Given the description of an element on the screen output the (x, y) to click on. 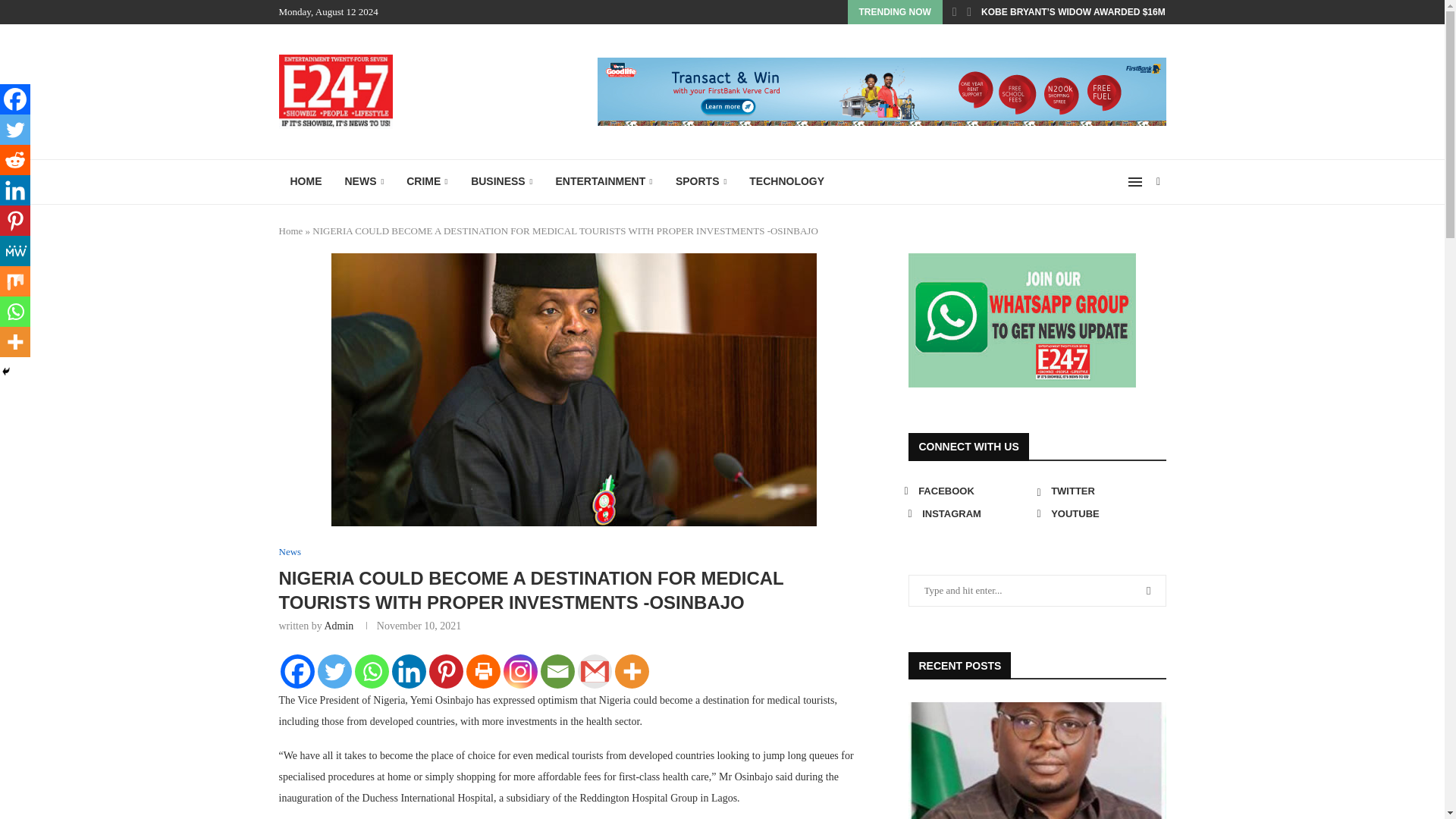
Facebook (297, 671)
SPORTS (700, 181)
Instagram (520, 671)
More (630, 671)
Home (290, 230)
Google Gmail (594, 671)
HOME (306, 181)
TECHNOLOGY (786, 181)
Yemi-Osinbajo (573, 389)
BUSINESS (501, 181)
